Given the description of an element on the screen output the (x, y) to click on. 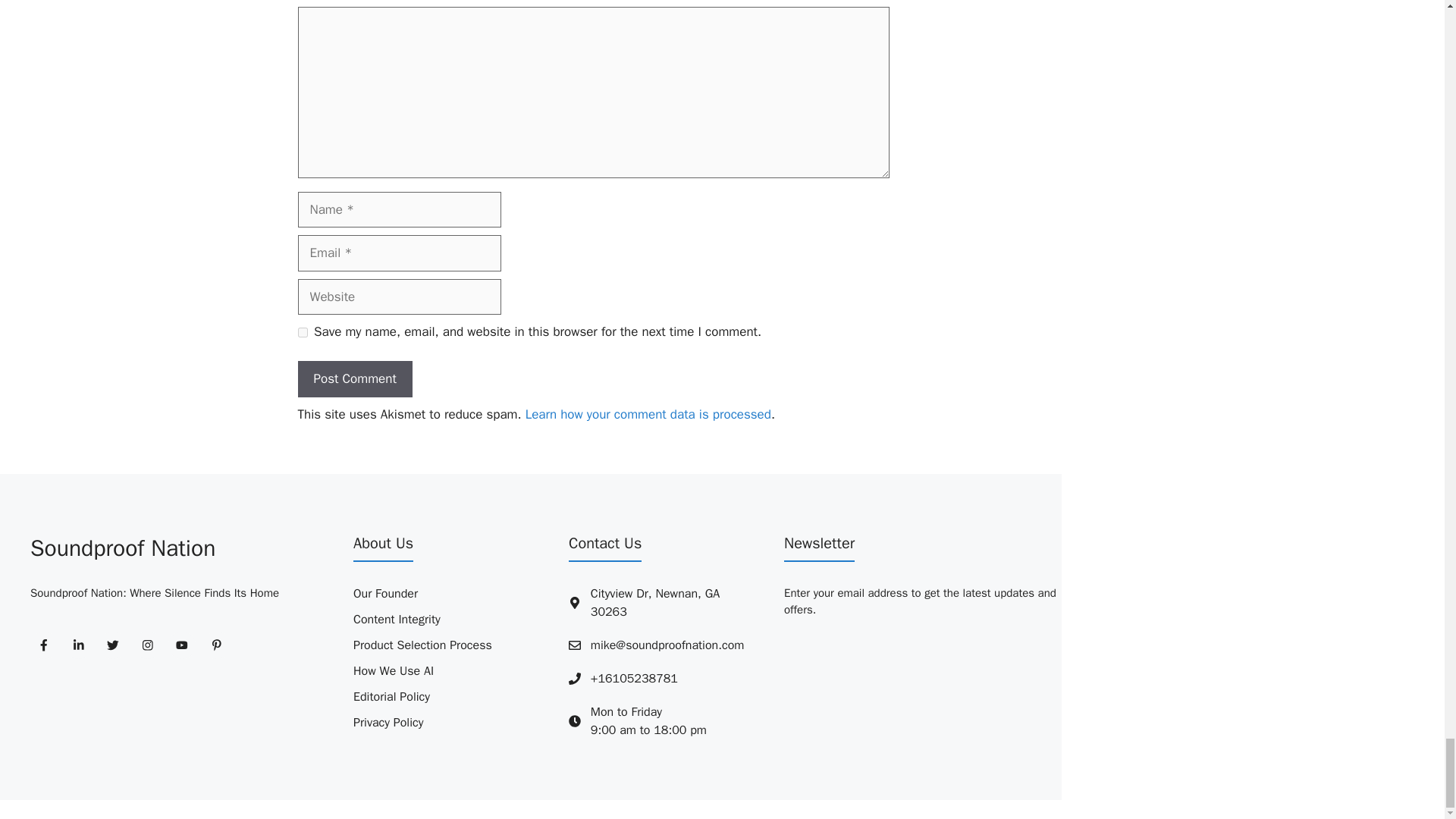
yes (302, 332)
Post Comment (354, 379)
